Given the description of an element on the screen output the (x, y) to click on. 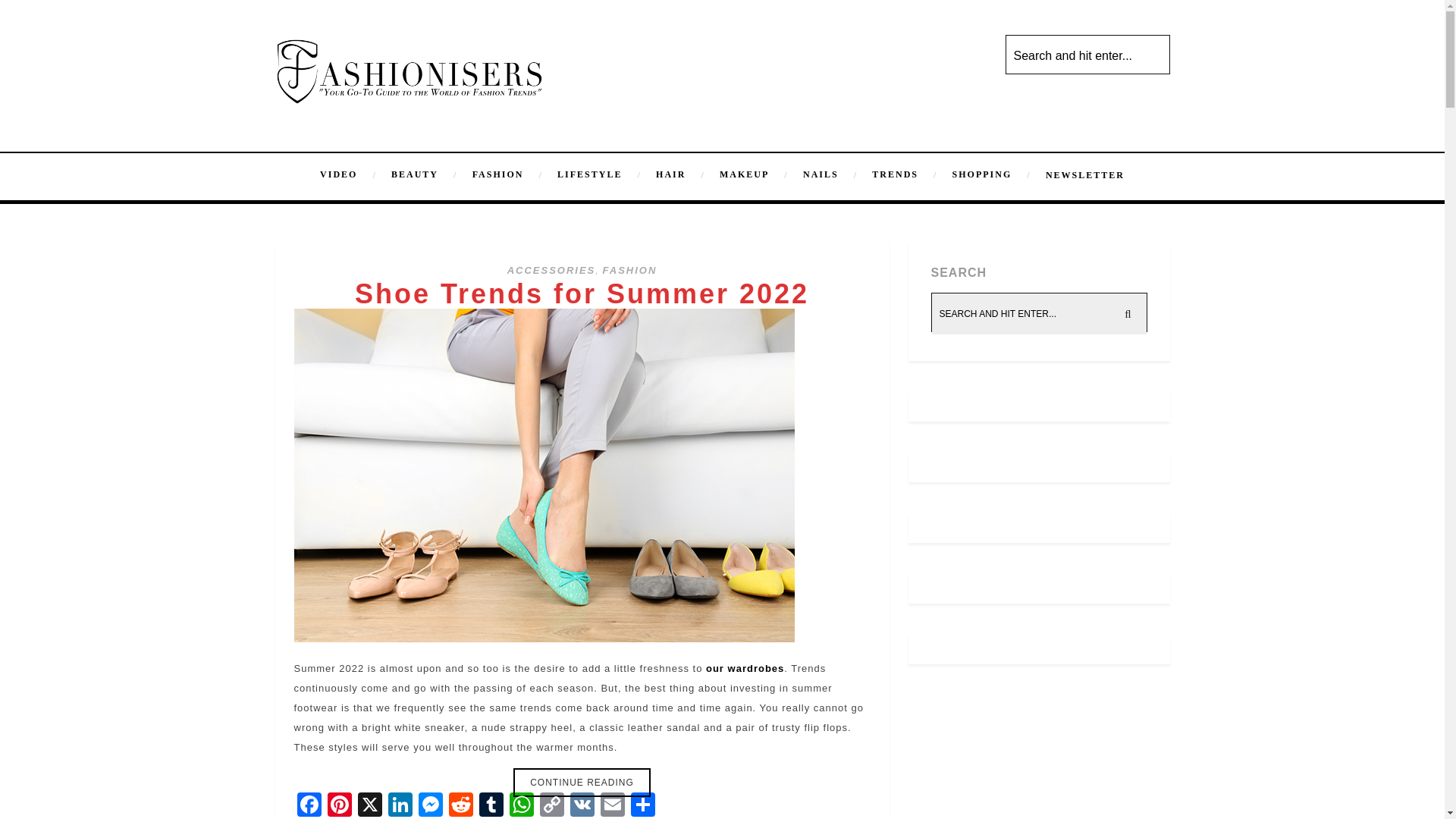
Email (611, 805)
Pinterest (339, 805)
Facebook (309, 805)
X (370, 805)
Permanent Link to Shoe Trends for Summer 2022 (582, 292)
VK (581, 805)
Tumblr (491, 805)
Messenger (429, 805)
Search and hit enter... (1089, 56)
WhatsApp (521, 805)
